Given the description of an element on the screen output the (x, y) to click on. 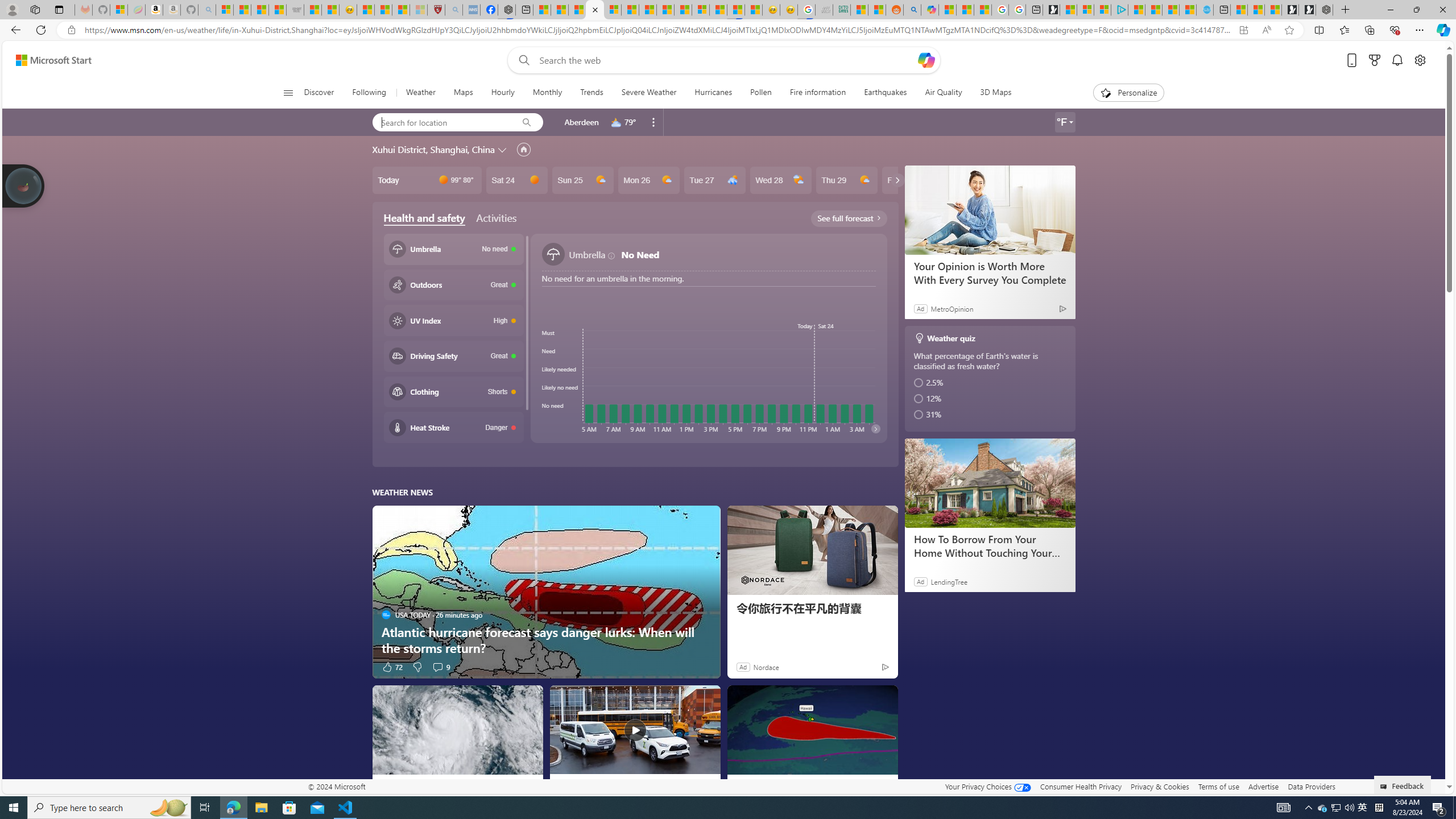
Hourly (502, 92)
Workspaces (34, 9)
Thu 29 (846, 180)
Collections (1369, 29)
Split screen (1318, 29)
App bar (728, 29)
Close tab (594, 9)
Join us in planting real trees to help our planet! (23, 185)
Tue 27 (714, 180)
12 Popular Science Lies that Must be Corrected - Sleeping (418, 9)
list of asthma inhalers uk - Search - Sleeping (453, 9)
Pollen (760, 92)
Air Quality (943, 92)
AccuWeather (563, 785)
